Given the description of an element on the screen output the (x, y) to click on. 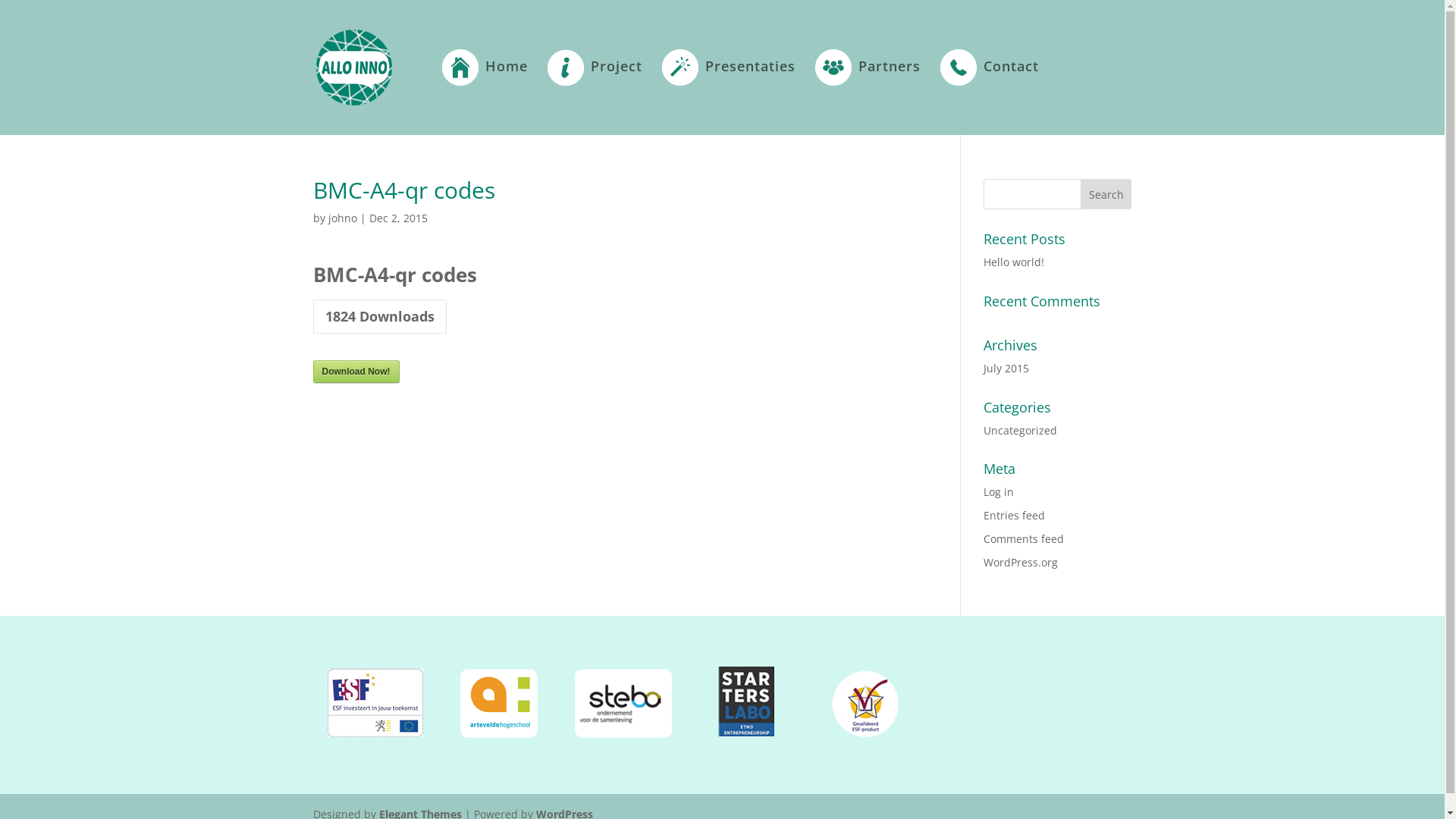
johno Element type: text (341, 217)
Entries feed Element type: text (1013, 515)
Download Now! Element type: text (355, 371)
Log in Element type: text (998, 491)
Project Element type: text (594, 91)
Home Element type: text (484, 91)
Search Element type: text (1106, 193)
  Element type: text (686, 738)
Presentaties Element type: text (727, 91)
Partners Element type: text (866, 91)
Comments feed Element type: text (1023, 538)
WordPress.org Element type: text (1020, 562)
July 2015 Element type: text (1006, 367)
Uncategorized Element type: text (1020, 430)
Contact Element type: text (989, 91)
Hello world! Element type: text (1013, 261)
